Given the description of an element on the screen output the (x, y) to click on. 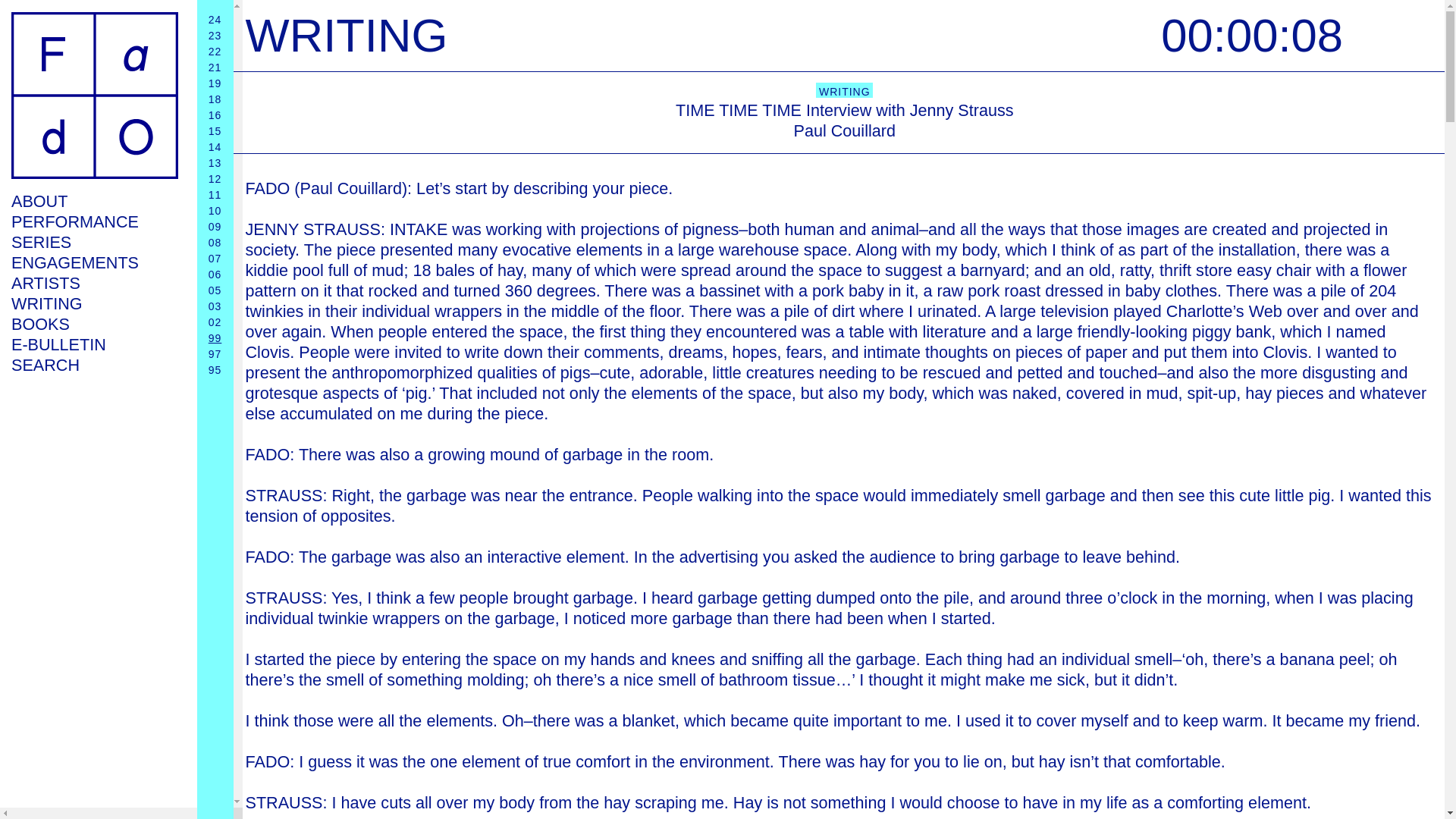
SEARCH (94, 364)
24 (215, 19)
12 (215, 178)
15 (215, 131)
WRITING (94, 303)
16 (215, 114)
05 (215, 290)
PERFORMANCE (94, 221)
19 (215, 82)
ENGAGEMENTS (94, 262)
06 (215, 274)
13 (215, 162)
08 (215, 242)
ABOUT (94, 200)
11 (215, 194)
